Given the description of an element on the screen output the (x, y) to click on. 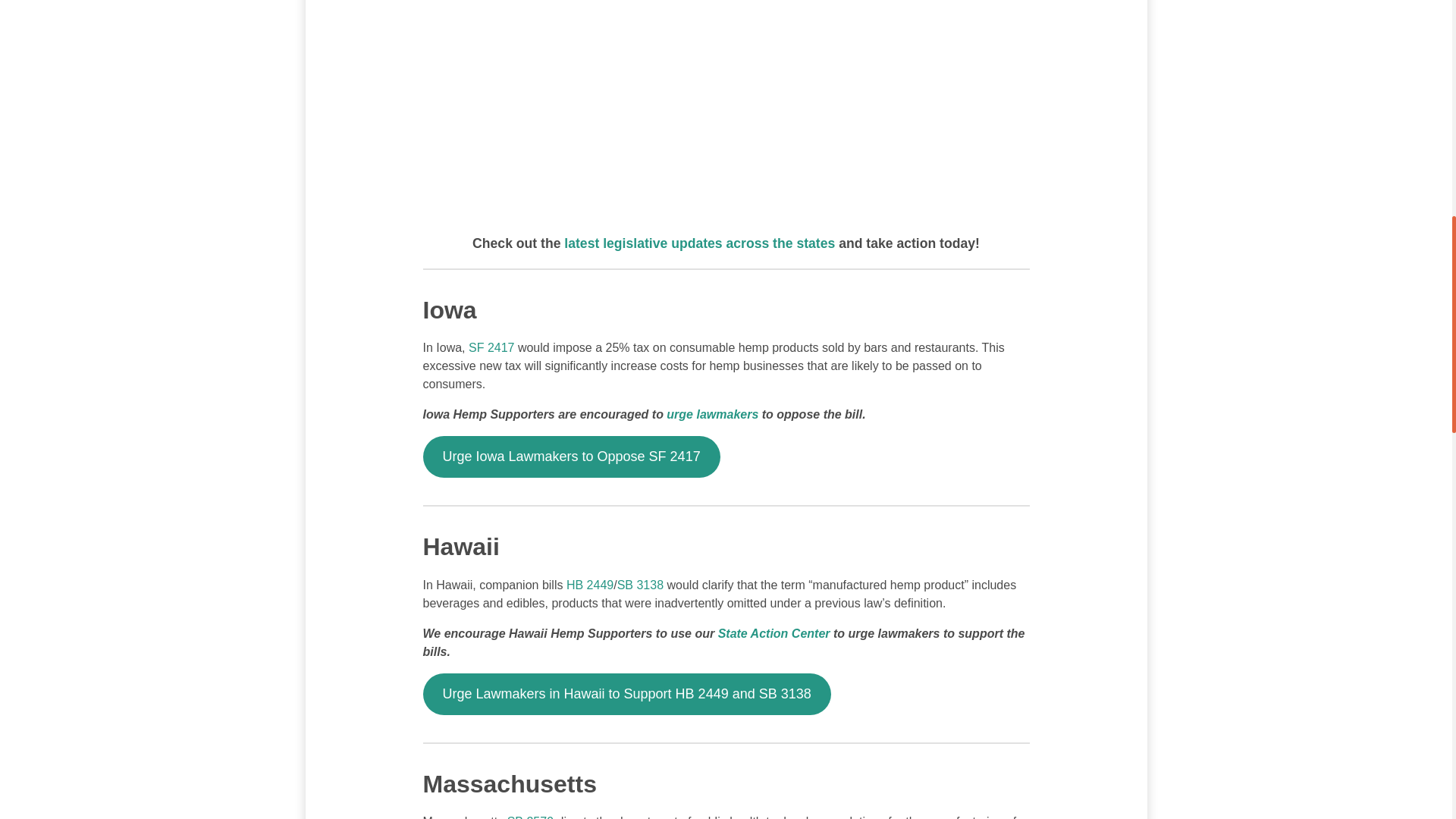
SF 2417 (490, 347)
SB 3138 (640, 584)
State Action Center (773, 633)
latest legislative updates across the states (699, 242)
SB 2579 (529, 816)
Urge Lawmakers in Hawaii to Support HB 2449 and SB 3138 (627, 693)
HB 2449 (589, 584)
urge lawmakers (712, 413)
Urge Iowa Lawmakers to Oppose SF 2417 (571, 456)
